Given the description of an element on the screen output the (x, y) to click on. 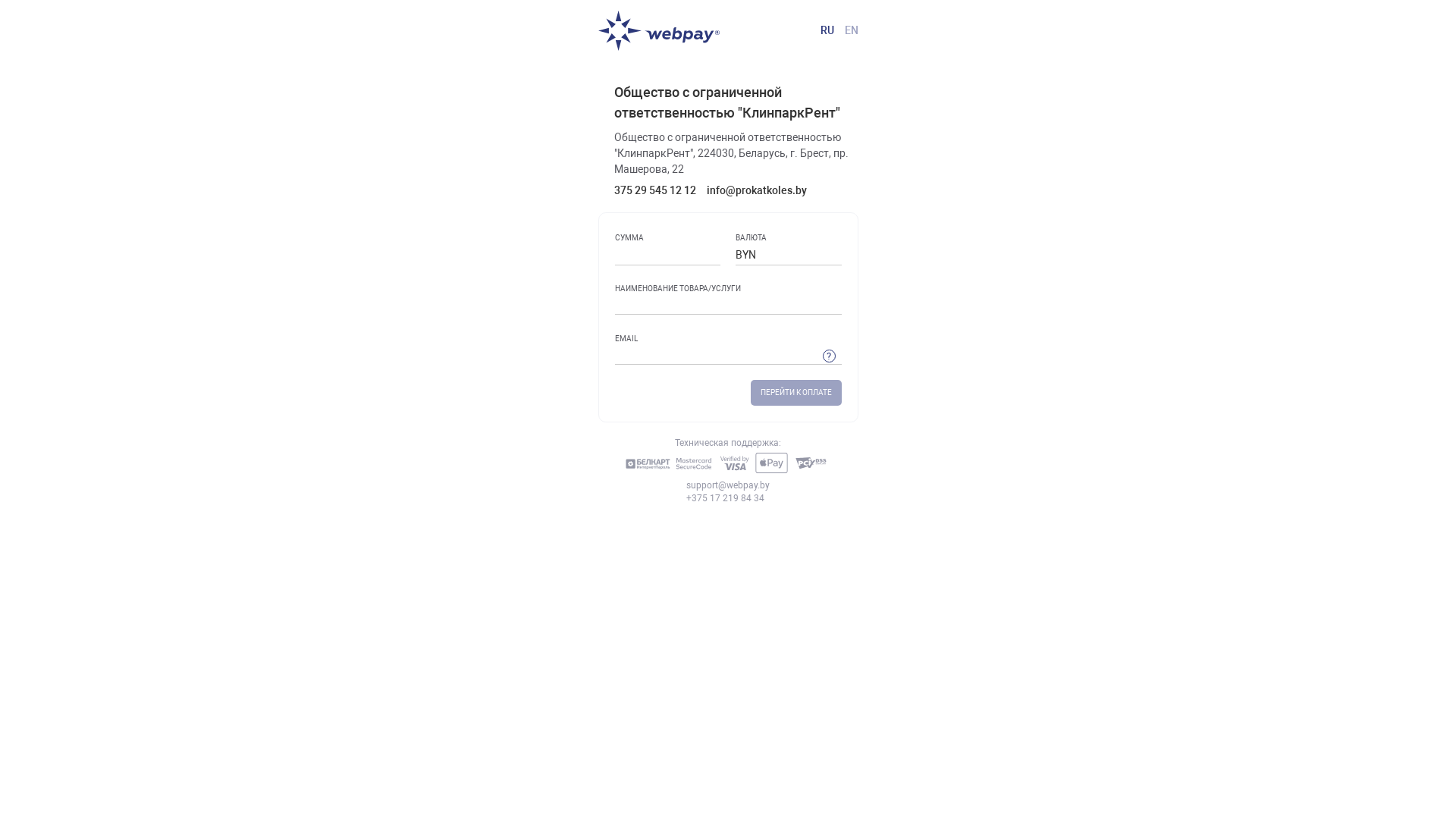
info@prokatkoles.by Element type: text (761, 190)
+375 17 219 84 34 Element type: text (727, 498)
375 29 545 12 12 Element type: text (660, 190)
? Element type: text (828, 355)
support@webpay.by Element type: text (727, 485)
RU Element type: text (827, 30)
EN Element type: text (851, 30)
